Given the description of an element on the screen output the (x, y) to click on. 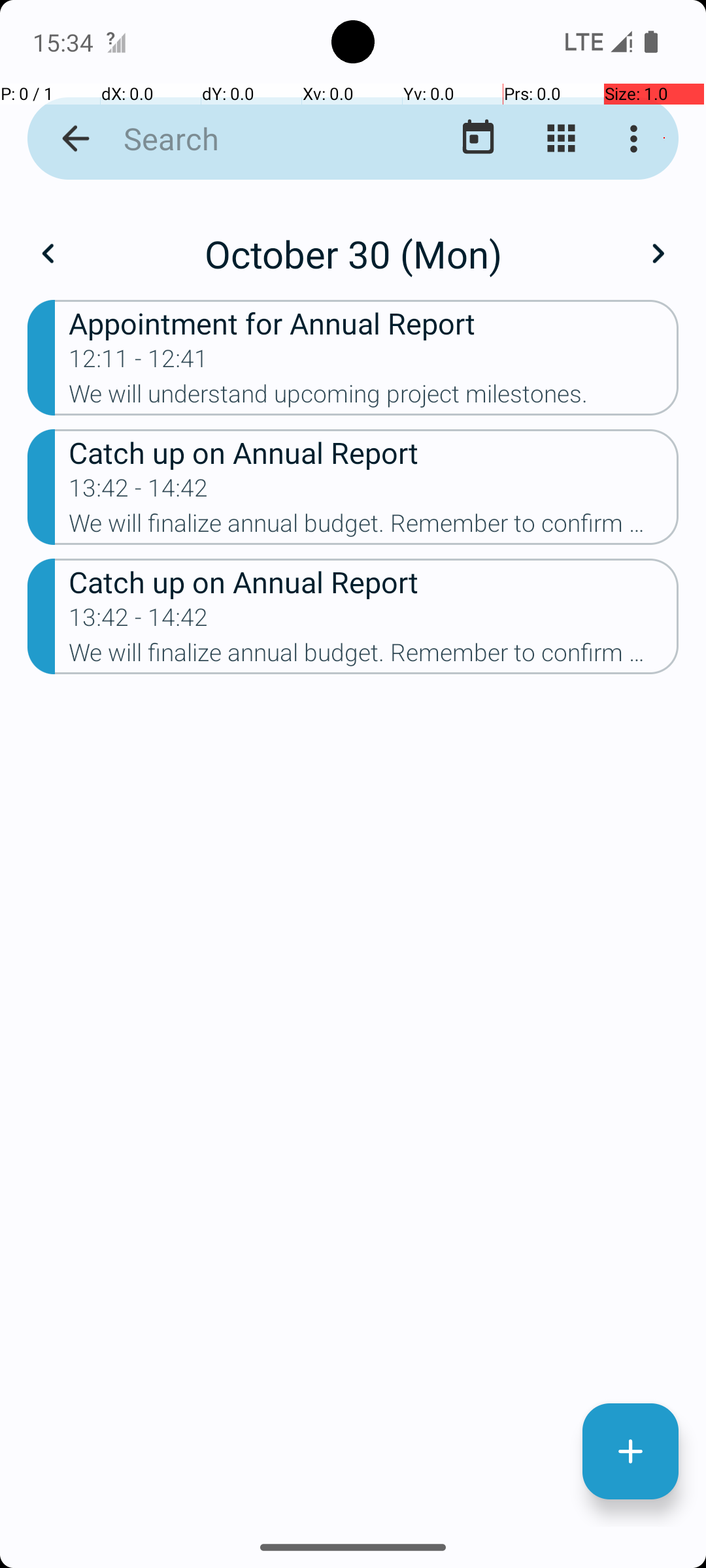
October 30 (Mon) Element type: android.widget.TextView (352, 253)
12:11 - 12:41 Element type: android.widget.TextView (137, 362)
We will understand upcoming project milestones. Element type: android.widget.TextView (373, 397)
13:42 - 14:42 Element type: android.widget.TextView (137, 491)
We will finalize annual budget. Remember to confirm attendance. Element type: android.widget.TextView (373, 526)
